Given the description of an element on the screen output the (x, y) to click on. 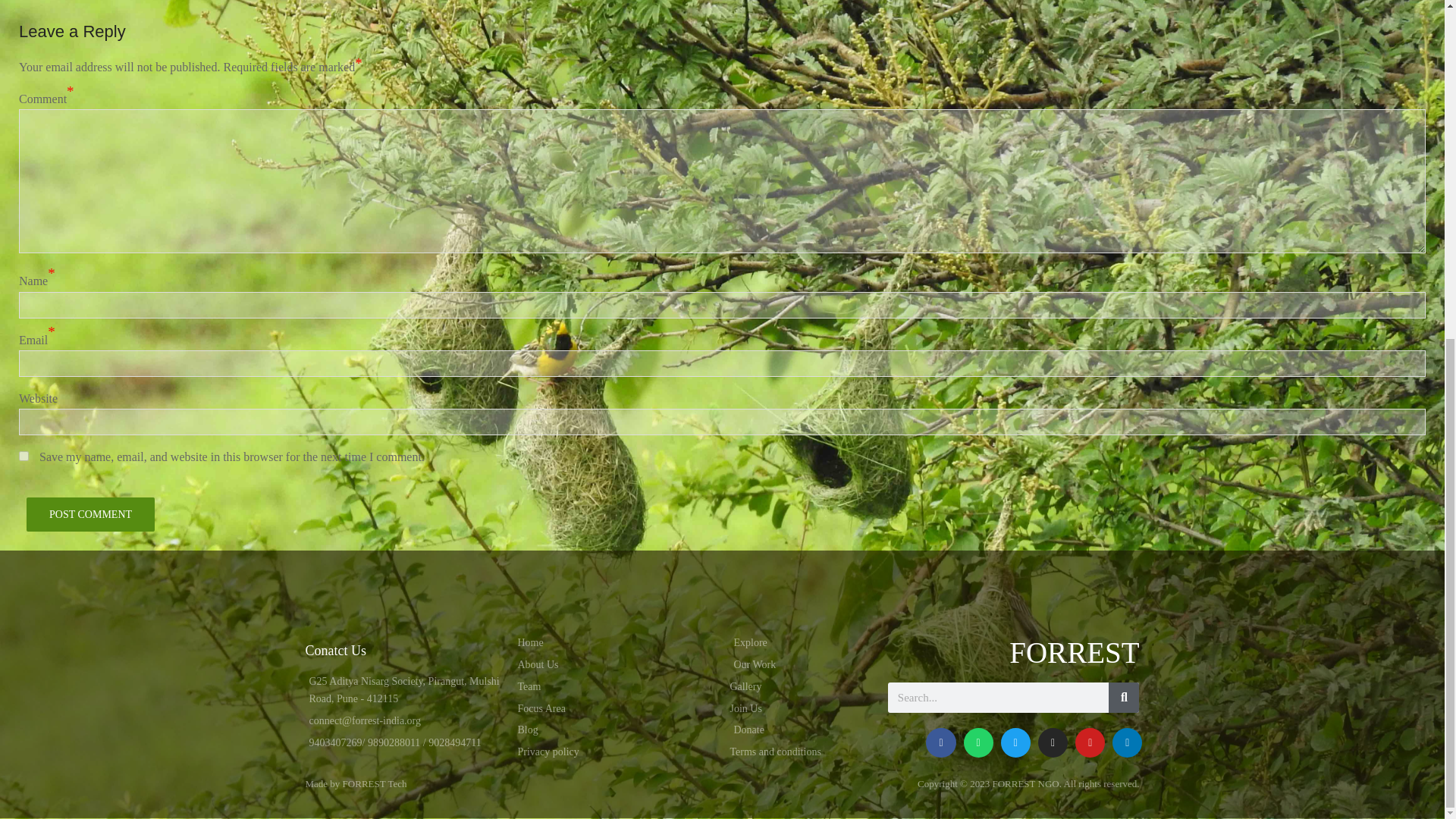
Home (615, 642)
Post Comment (90, 514)
Post Comment (90, 514)
yes (23, 456)
Conatct Us (335, 650)
